Given the description of an element on the screen output the (x, y) to click on. 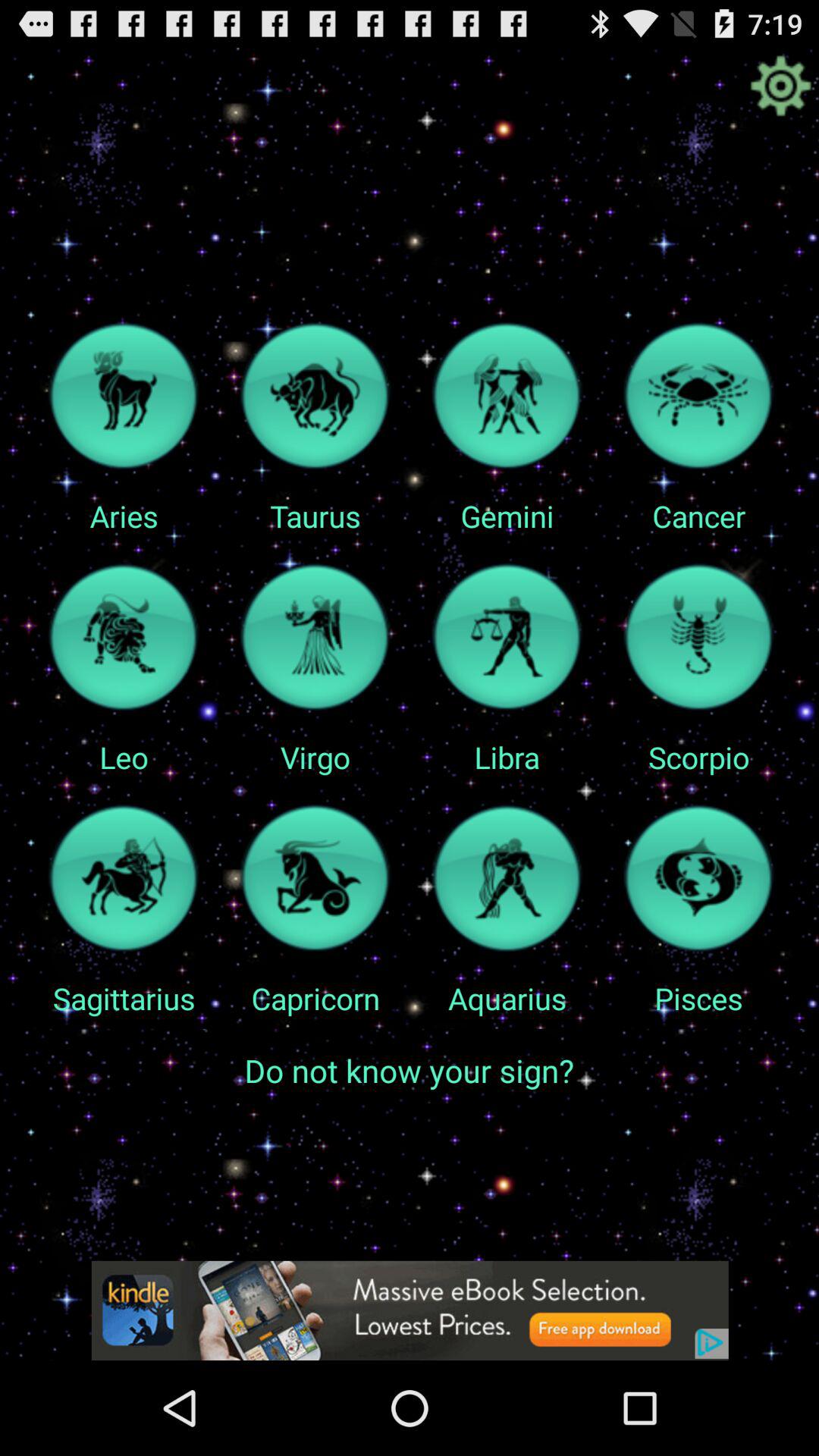
view advertisements (409, 1310)
